Given the description of an element on the screen output the (x, y) to click on. 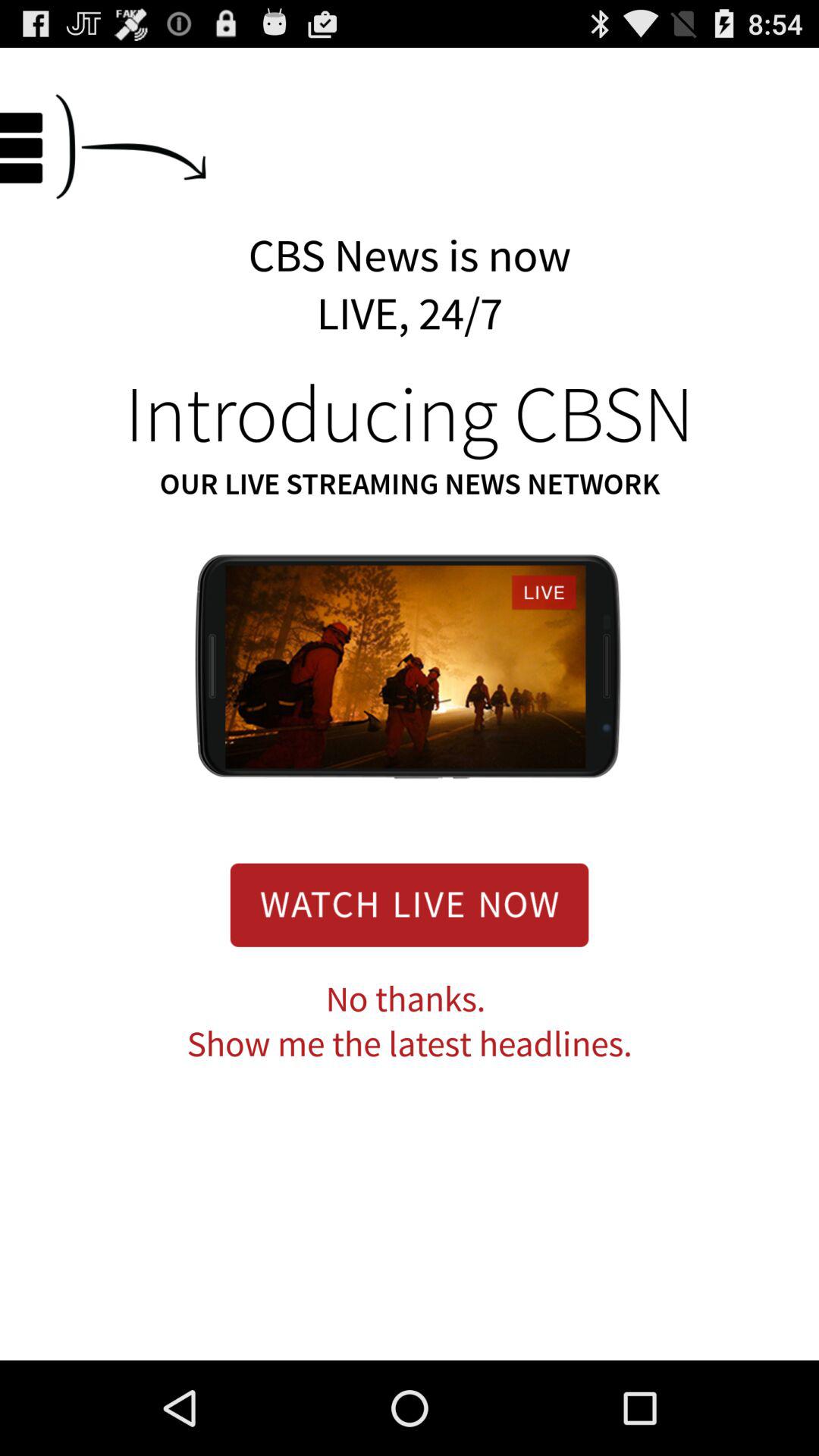
watch video (409, 904)
